Given the description of an element on the screen output the (x, y) to click on. 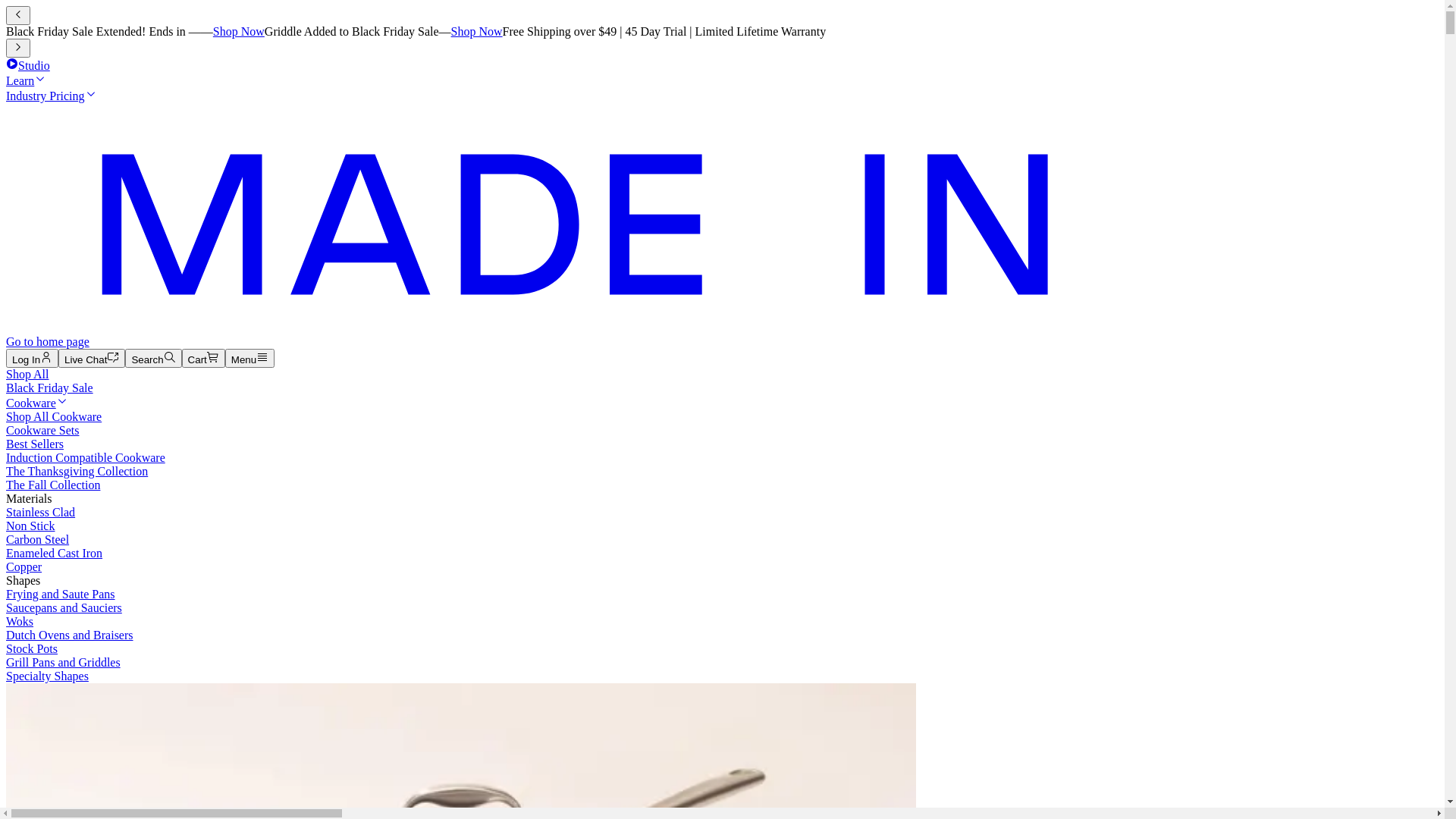
Stock Pots Element type: text (31, 648)
Best Sellers Element type: text (34, 443)
Learn Element type: text (26, 80)
Cookware Element type: text (37, 402)
Frying and Saute Pans Element type: text (60, 593)
Shop Now Element type: text (476, 31)
Non Stick Element type: text (30, 525)
Enameled Cast Iron Element type: text (54, 552)
Go to home page Element type: text (533, 341)
Woks Element type: text (19, 621)
Grill Pans and Griddles Element type: text (63, 661)
Shop Now Element type: text (238, 31)
Specialty Shapes Element type: text (47, 675)
Menu Element type: text (249, 357)
Search Element type: text (153, 357)
Studio Element type: text (28, 65)
Industry Pricing Element type: text (51, 95)
Cookware Sets Element type: text (42, 429)
Copper Element type: text (23, 566)
Shop All Element type: text (27, 373)
Dutch Ovens and Braisers Element type: text (69, 634)
Stainless Clad Element type: text (40, 511)
Induction Compatible Cookware Element type: text (85, 457)
Cart Element type: text (203, 357)
Saucepans and Sauciers Element type: text (64, 607)
Shop All Cookware Element type: text (53, 416)
The Fall Collection Element type: text (53, 484)
Log In Element type: text (32, 357)
The Thanksgiving Collection Element type: text (76, 470)
Black Friday Sale Element type: text (49, 387)
Carbon Steel Element type: text (37, 539)
Live Chat Element type: text (91, 357)
